Given the description of an element on the screen output the (x, y) to click on. 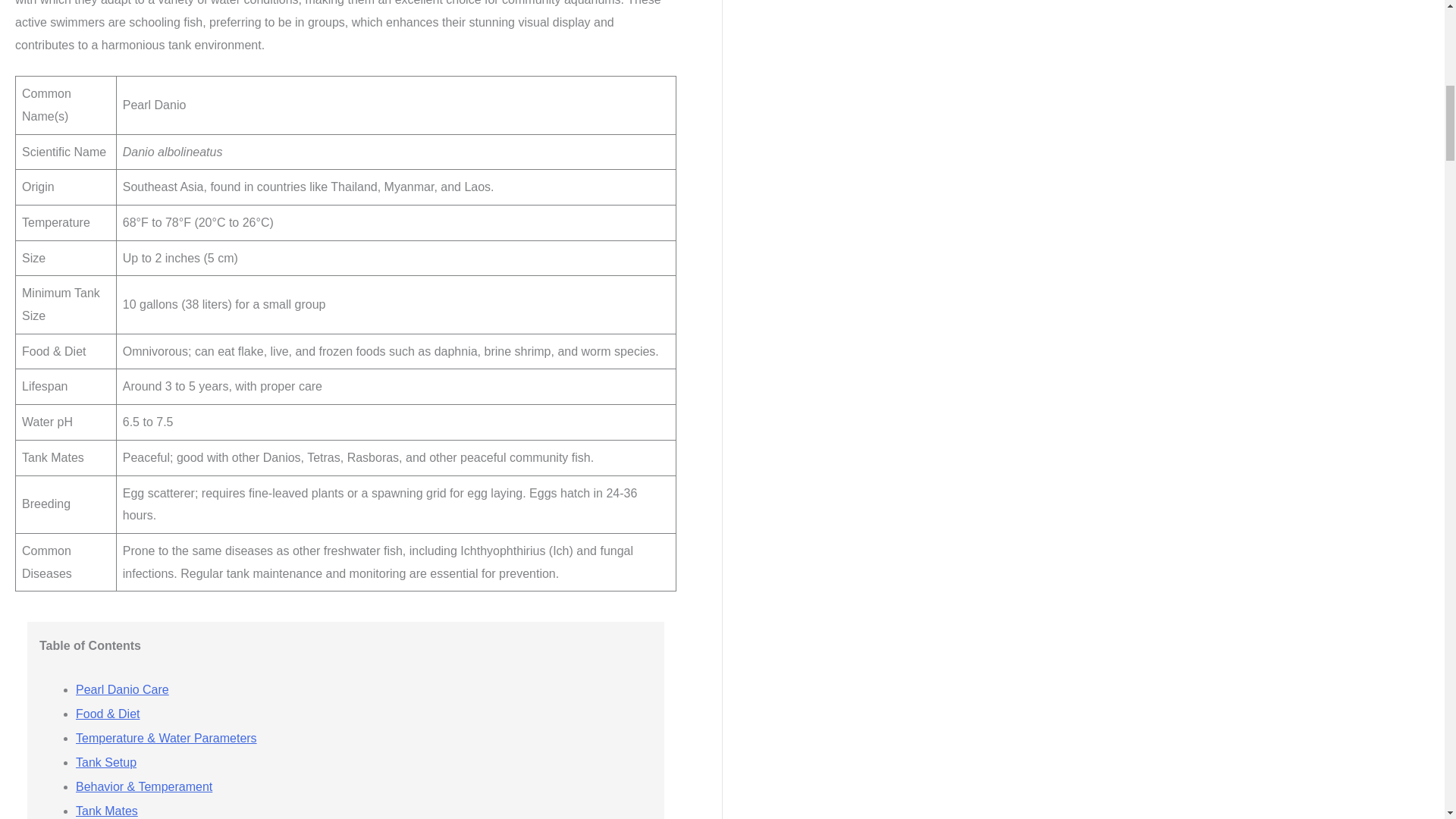
Pearl Danio Care (121, 689)
Tank Setup (105, 762)
Tank Mates (106, 810)
